Given the description of an element on the screen output the (x, y) to click on. 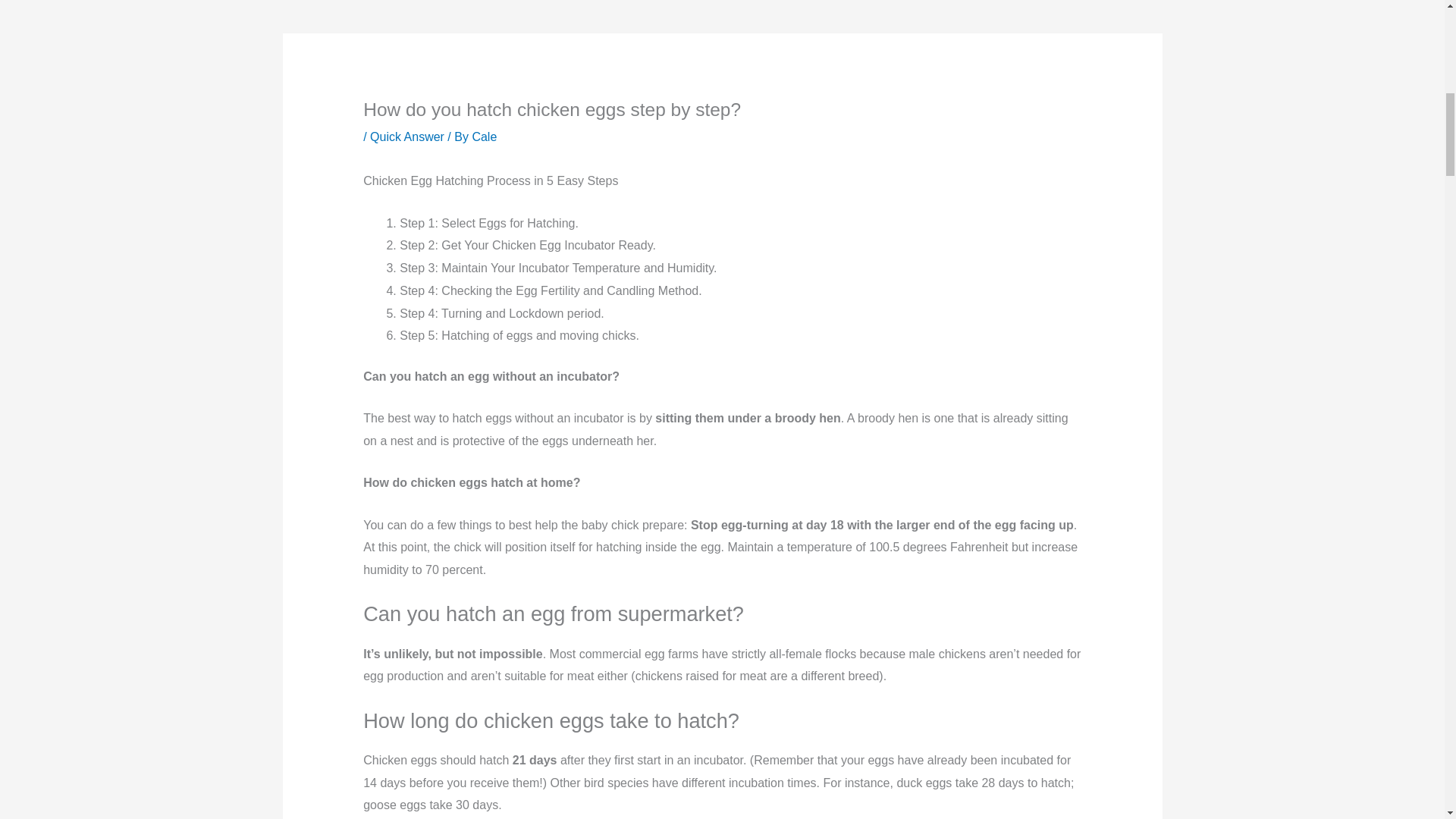
Cale (483, 136)
Quick Answer (406, 136)
View all posts by Cale (483, 136)
